Given the description of an element on the screen output the (x, y) to click on. 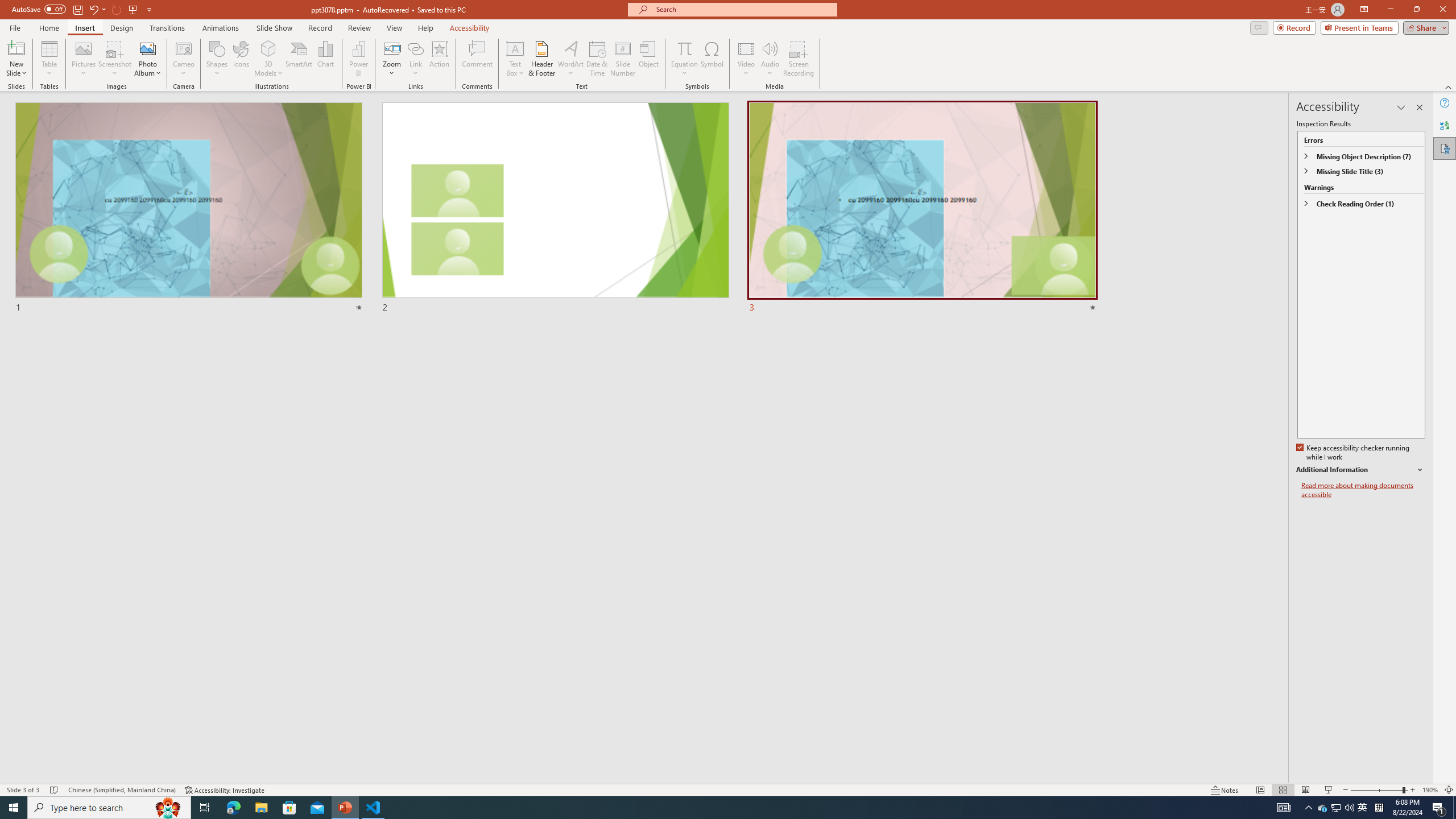
Symbol... (711, 58)
Link (415, 48)
Object... (649, 58)
Icons (240, 58)
Equation (683, 48)
